Given the description of an element on the screen output the (x, y) to click on. 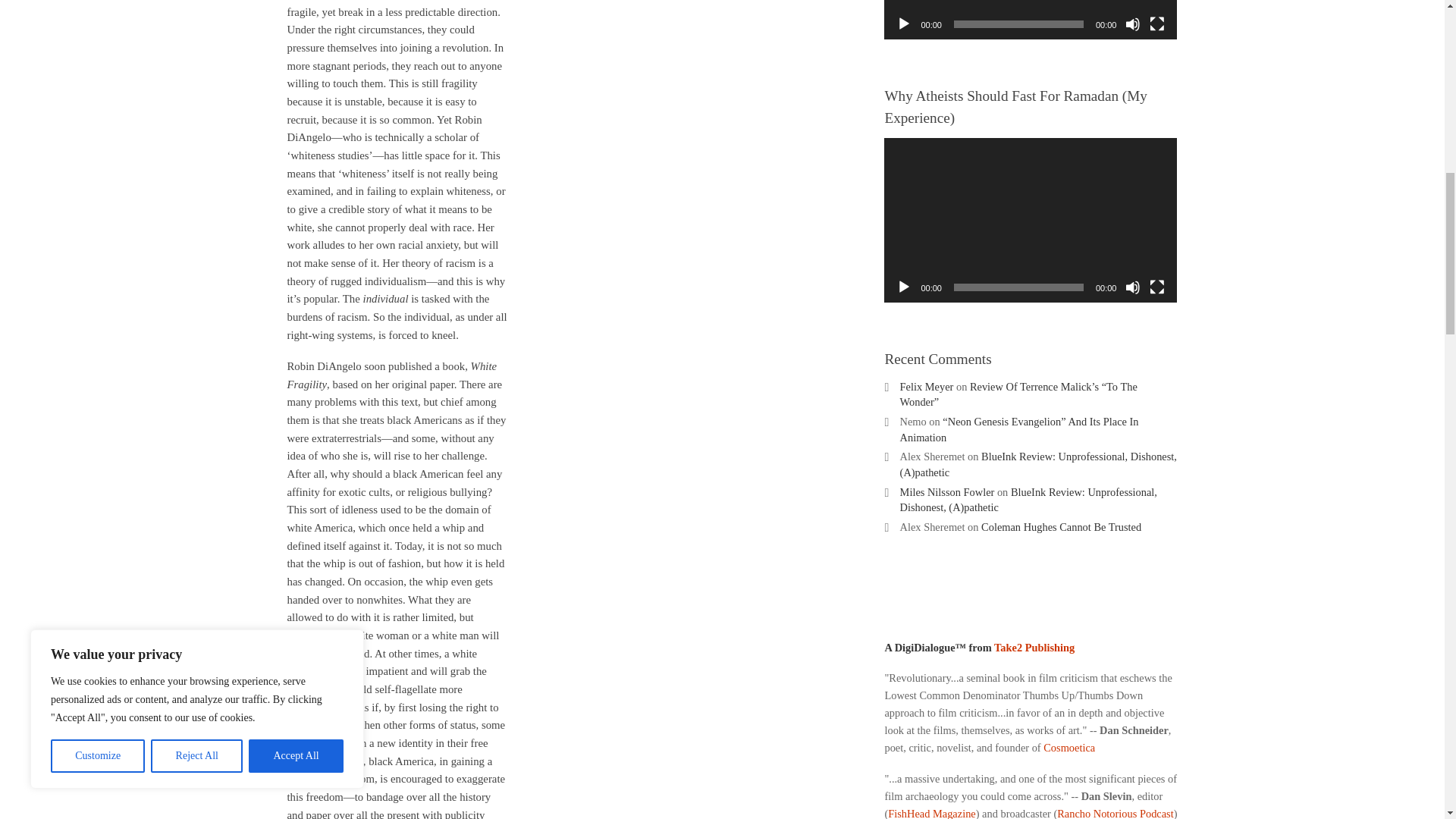
Play (903, 287)
Mute (1132, 287)
Play (903, 23)
Fullscreen (1157, 23)
Fullscreen (1157, 287)
Mute (1132, 23)
